Given the description of an element on the screen output the (x, y) to click on. 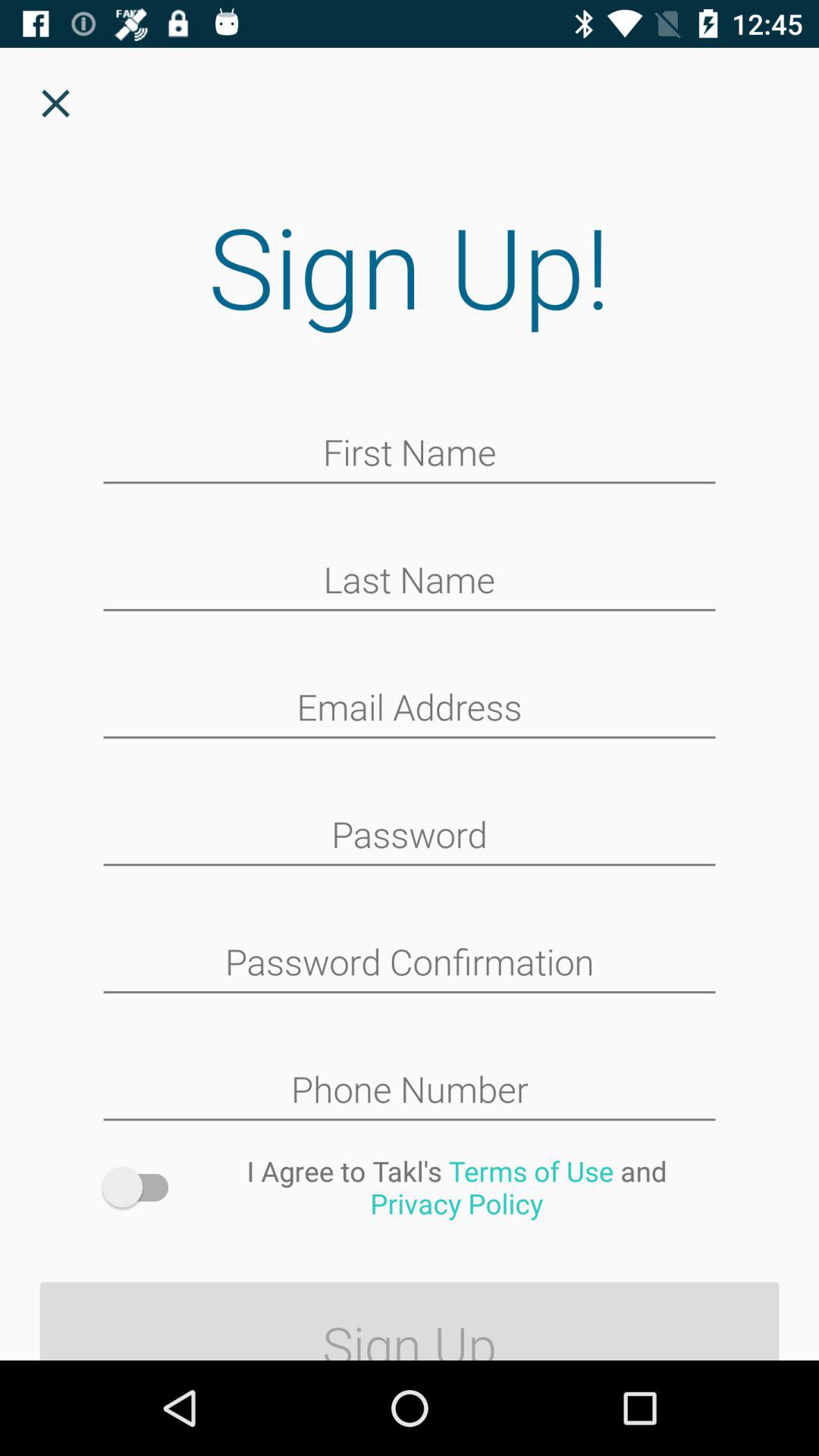
turn on item below sign up! (409, 454)
